Given the description of an element on the screen output the (x, y) to click on. 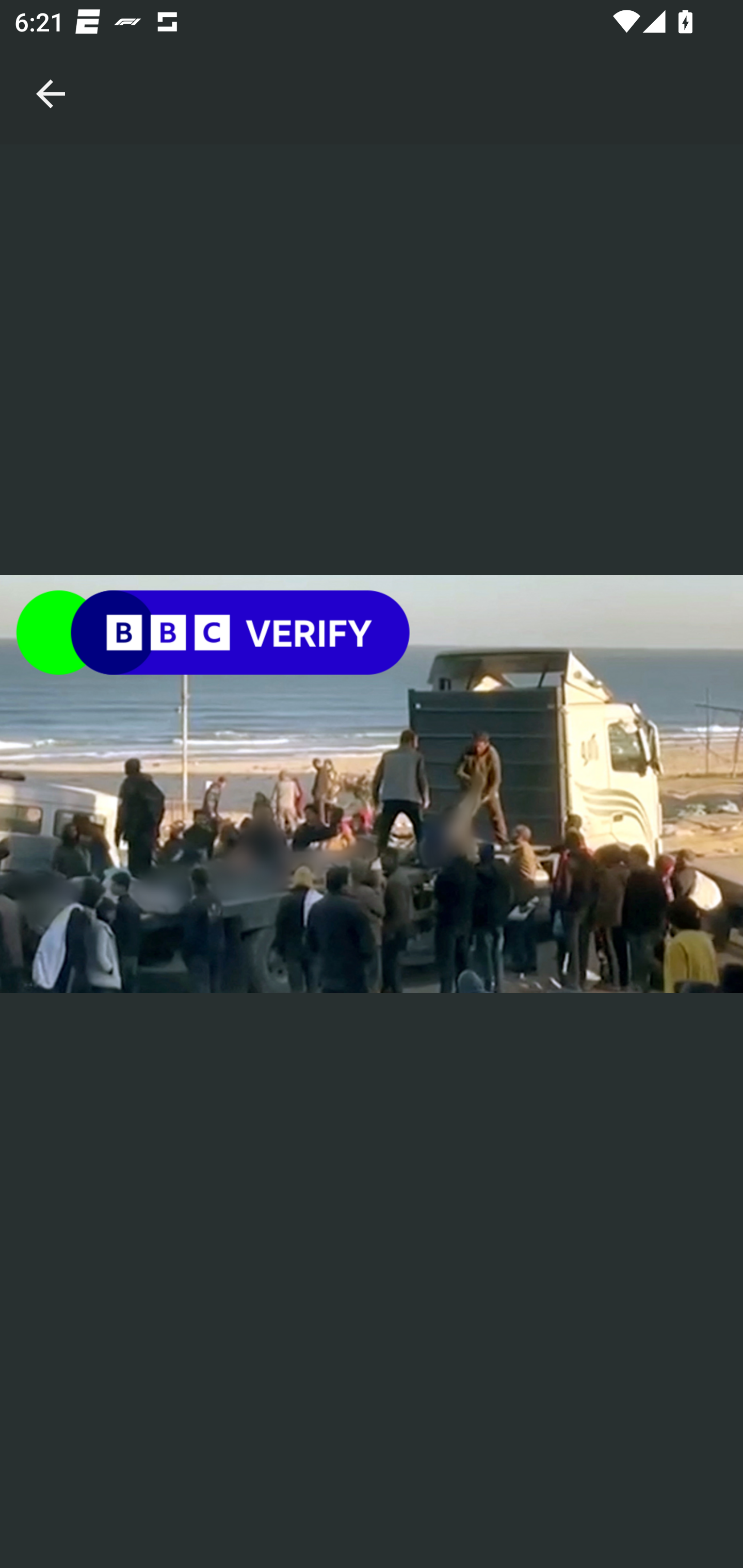
Back (50, 72)
